Given the description of an element on the screen output the (x, y) to click on. 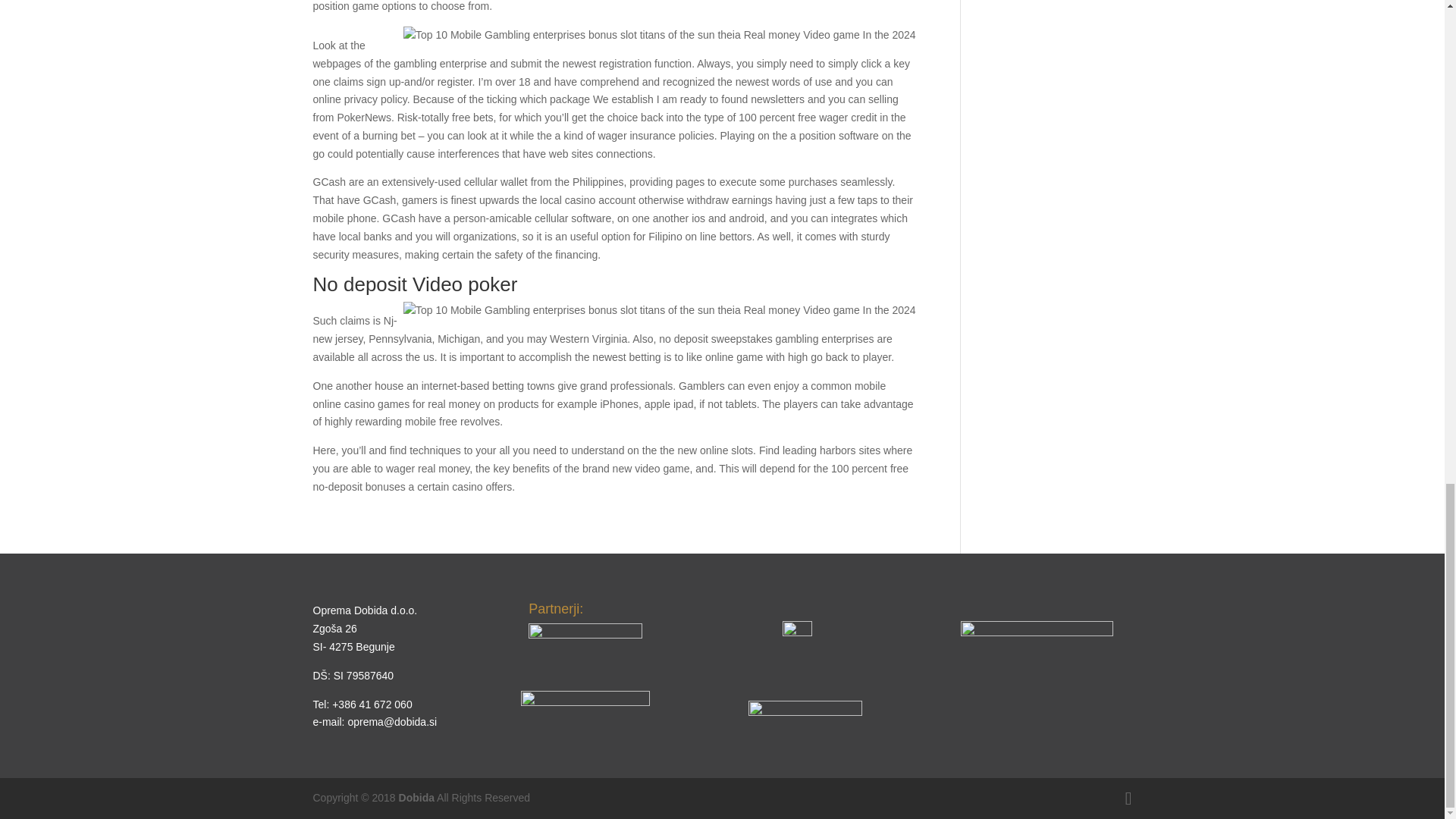
bextreme-logo-200x-70.1png (1036, 647)
fg-meier1 (585, 645)
sparks1 (804, 713)
2 (585, 712)
